Given the description of an element on the screen output the (x, y) to click on. 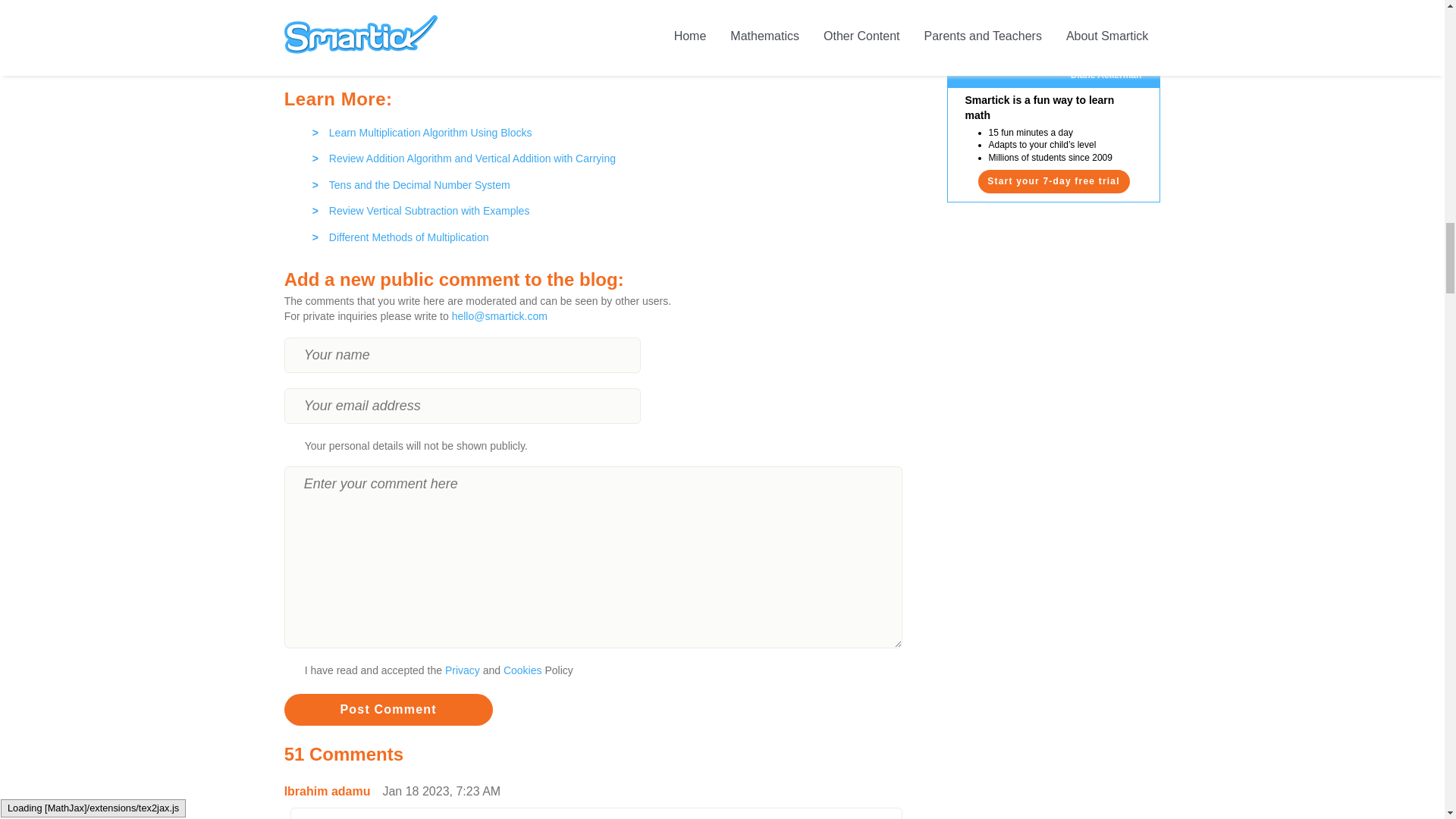
Cookies (522, 670)
Different Methods of Multiplication (601, 233)
Learn Multiplication Algorithm Using Blocks (601, 128)
Learn Multiplication Algorithm Using Blocks (601, 128)
Different Methods of Multiplication (601, 233)
Tens and the Decimal Number System (601, 181)
Post Comment (388, 709)
Privacy (462, 670)
